Given the description of an element on the screen output the (x, y) to click on. 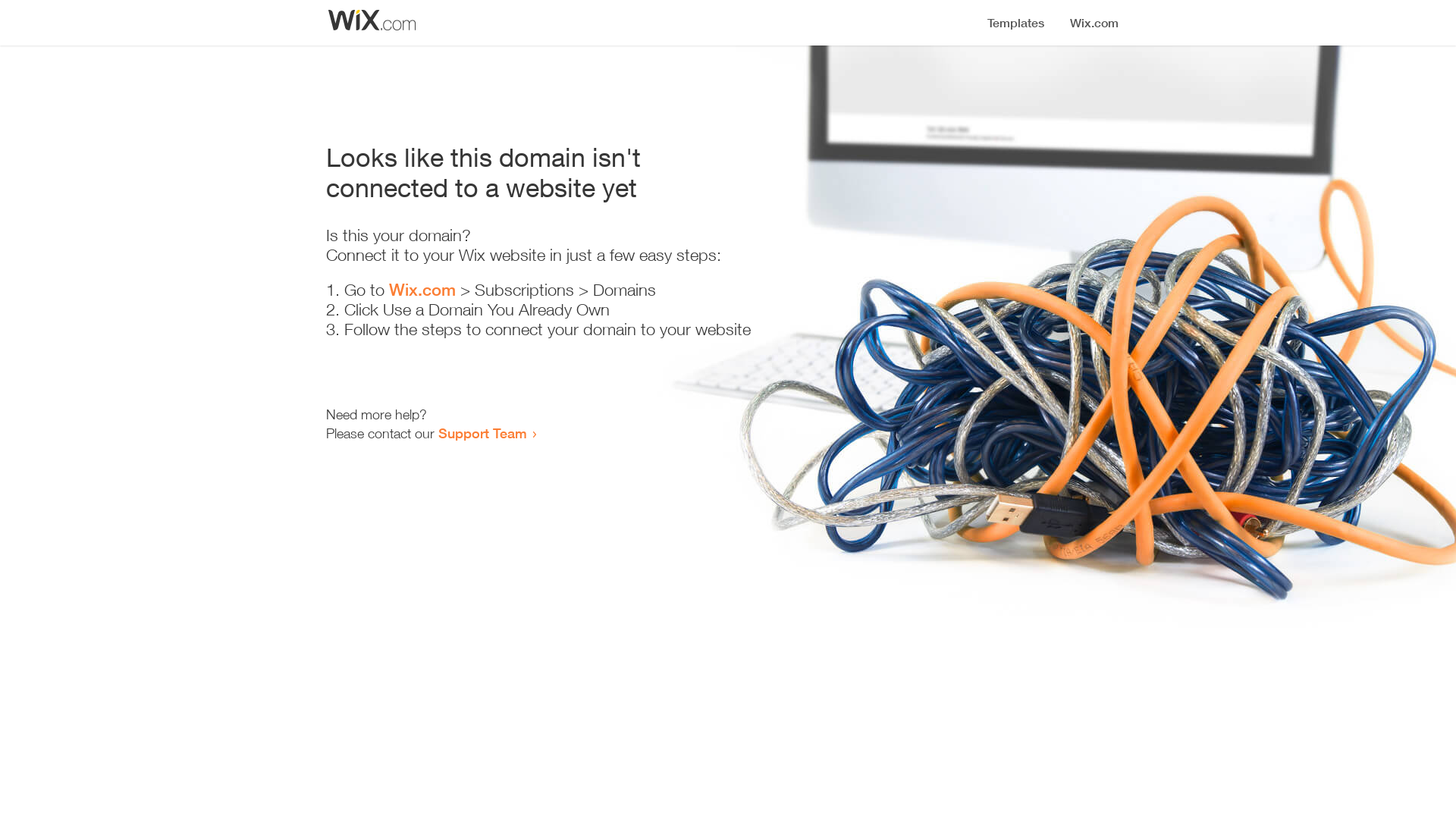
Support Team Element type: text (482, 432)
Wix.com Element type: text (422, 289)
